Given the description of an element on the screen output the (x, y) to click on. 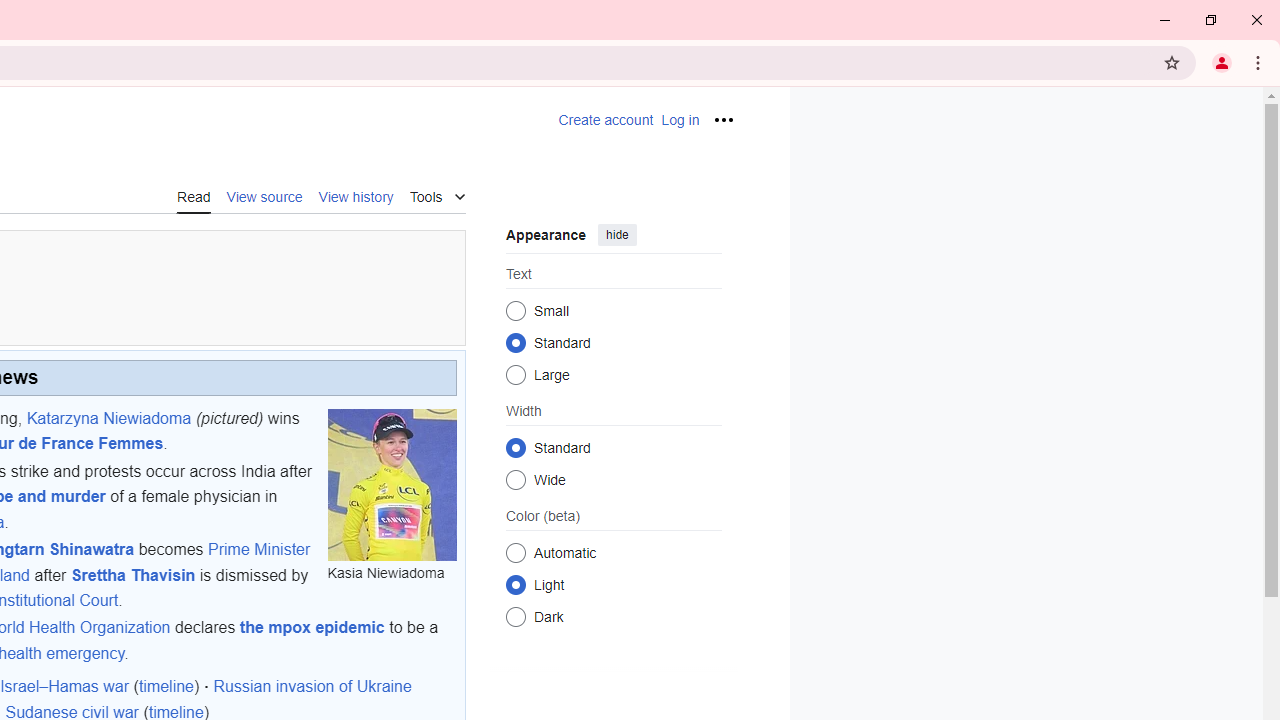
Tools (437, 194)
Create account (606, 120)
View history (355, 196)
Light (515, 583)
Large (515, 374)
AutomationID: pt-createaccount-2 (606, 120)
the mpox epidemic (312, 628)
AutomationID: pt-login-2 (680, 120)
Dark (515, 616)
Srettha Thavisin (132, 574)
AutomationID: ca-history (355, 195)
timeline (166, 687)
Standard (515, 447)
Small (515, 310)
